Given the description of an element on the screen output the (x, y) to click on. 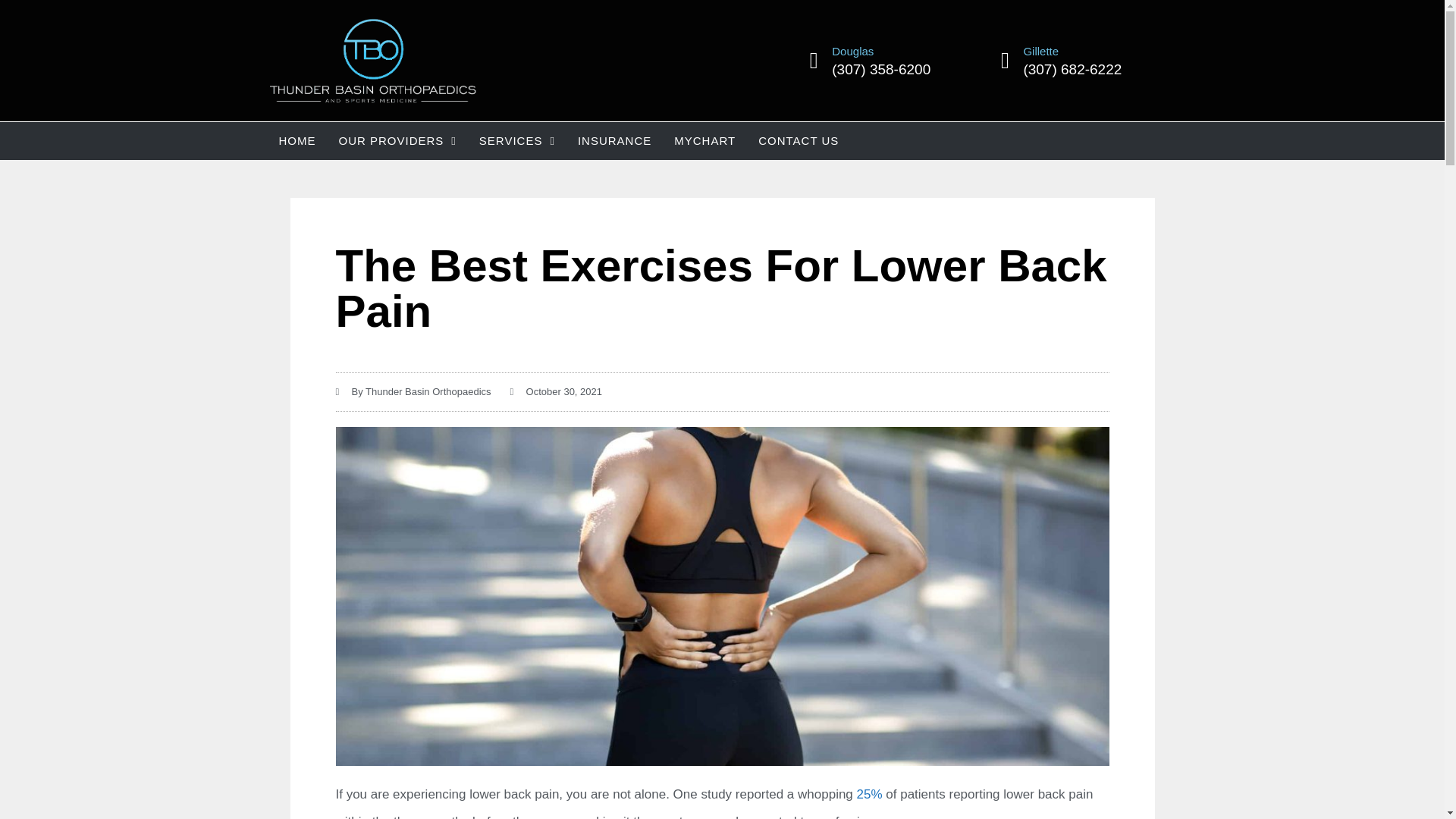
MYCHART (704, 140)
OUR PROVIDERS (397, 140)
HOME (296, 140)
Gillette (1040, 51)
Douglas (852, 51)
CONTACT US (798, 140)
INSURANCE (614, 140)
SERVICES (516, 140)
